Given the description of an element on the screen output the (x, y) to click on. 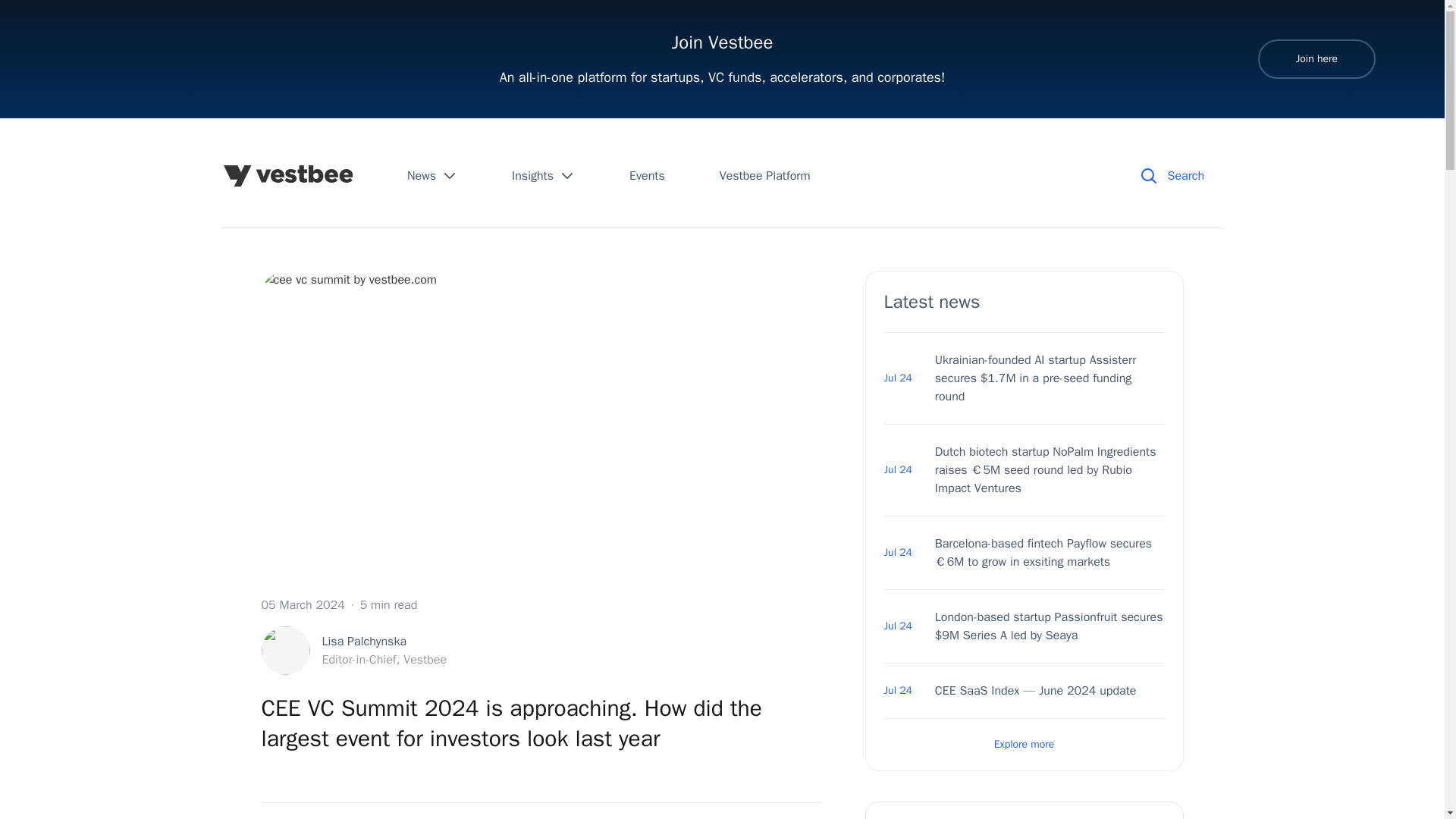
Vestbee Platform (353, 650)
Explore more (764, 175)
Join here (1023, 744)
Events (1316, 58)
Insights (646, 175)
News (542, 175)
